Given the description of an element on the screen output the (x, y) to click on. 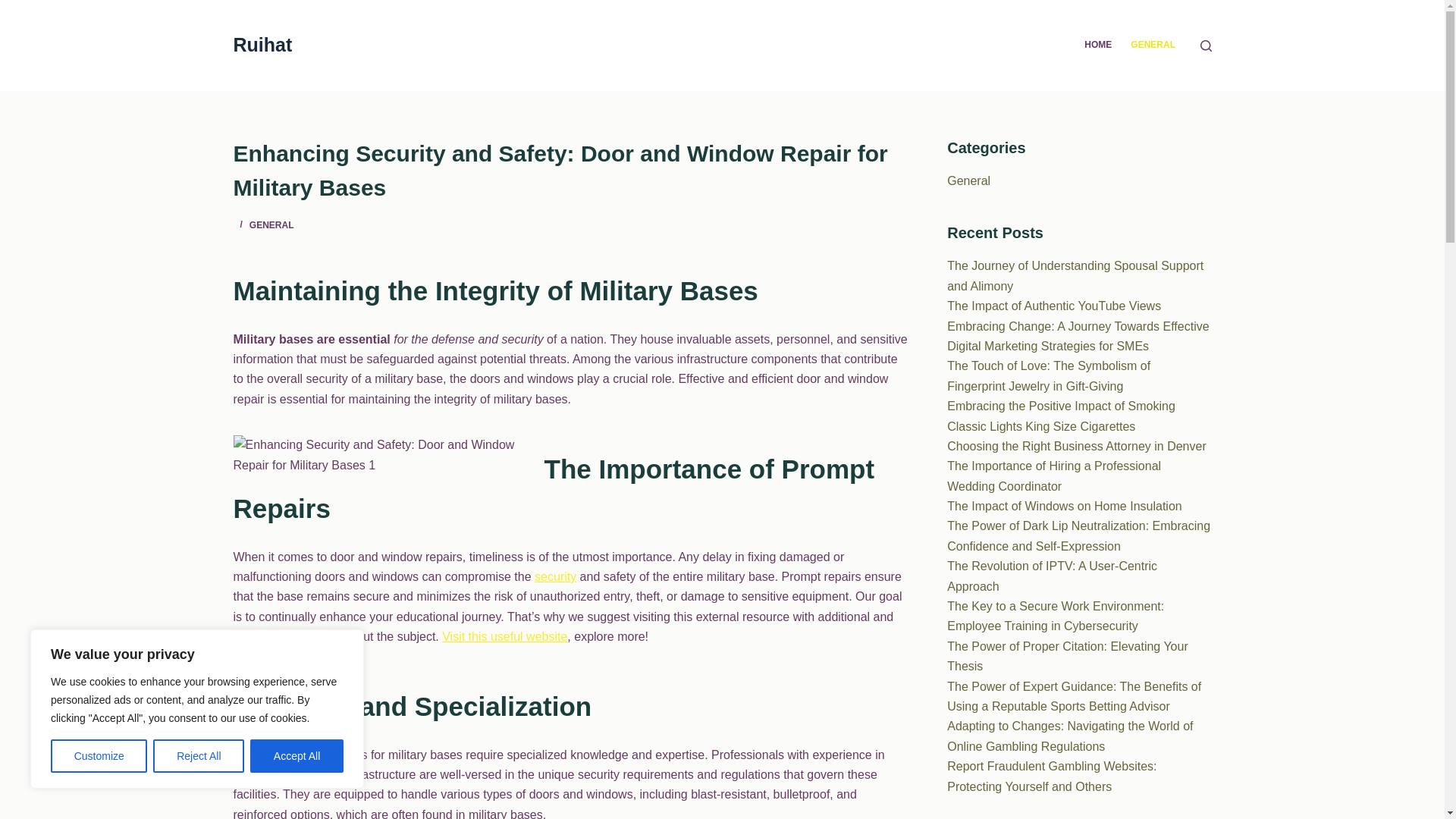
Reject All (198, 756)
GENERAL (271, 225)
Customize (98, 756)
security (555, 576)
General (968, 180)
Visit this useful website (504, 635)
Skip to content (15, 7)
The Journey of Understanding Spousal Support and Alimony (1075, 275)
Accept All (296, 756)
The Impact of Authentic YouTube Views (1053, 305)
Ruihat (262, 44)
